Given the description of an element on the screen output the (x, y) to click on. 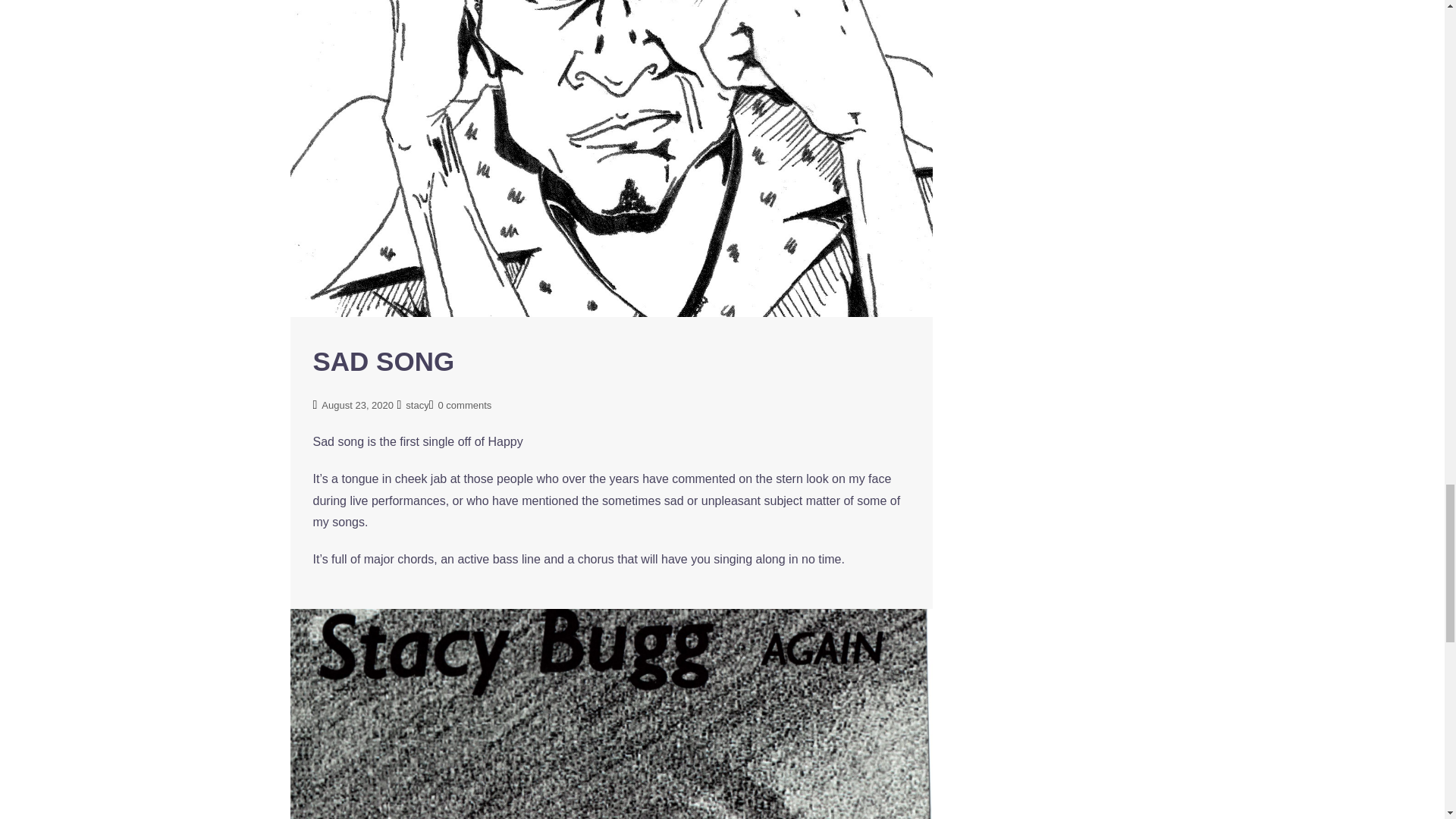
August 23, 2020 (357, 405)
stacy (417, 405)
SAD SONG (383, 360)
0 comments (465, 405)
